Given the description of an element on the screen output the (x, y) to click on. 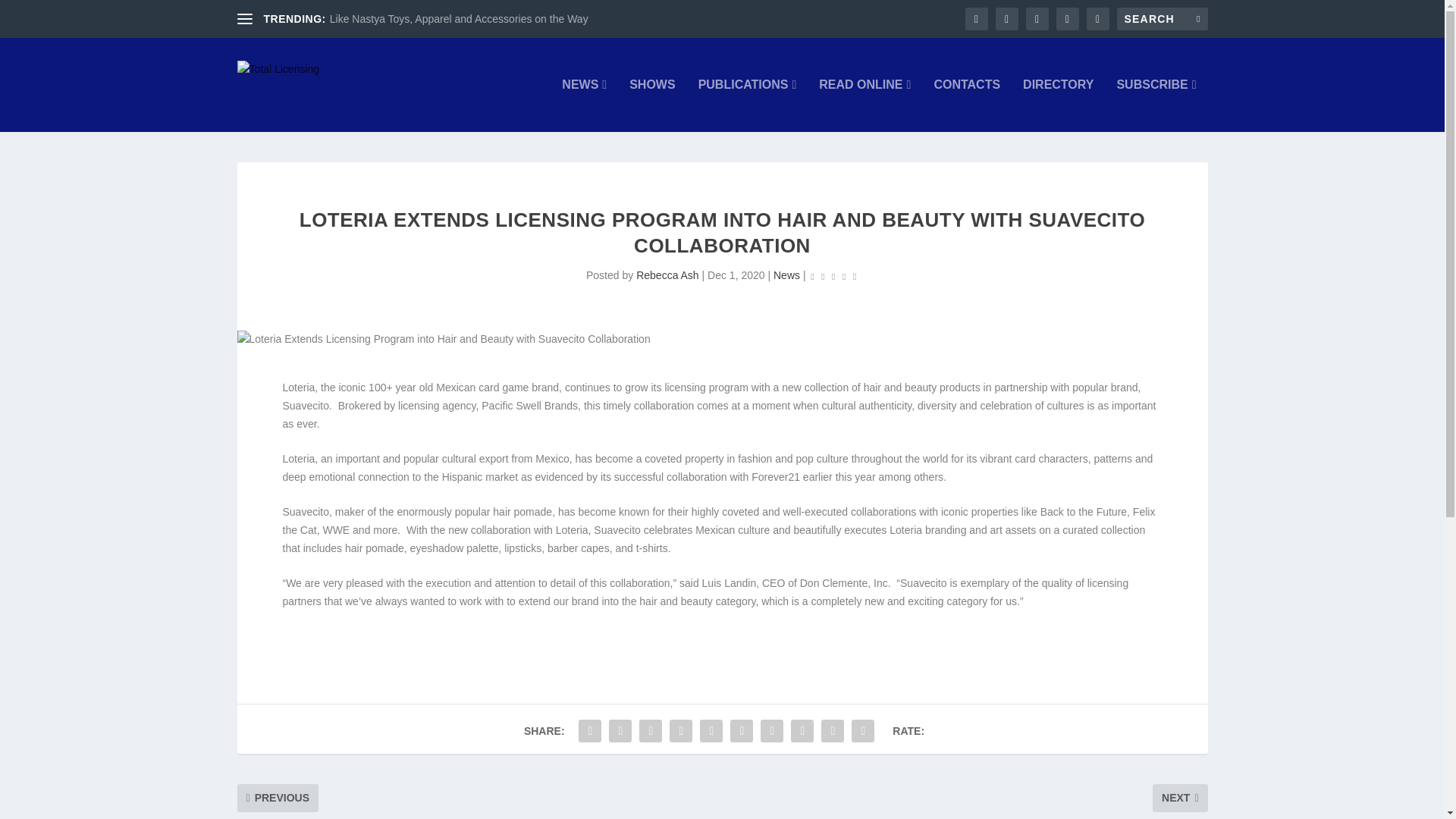
PUBLICATIONS (747, 104)
Search for: (1161, 18)
NEWS (584, 104)
SHOWS (651, 104)
Like Nastya Toys, Apparel and Accessories on the Way (459, 19)
